Given the description of an element on the screen output the (x, y) to click on. 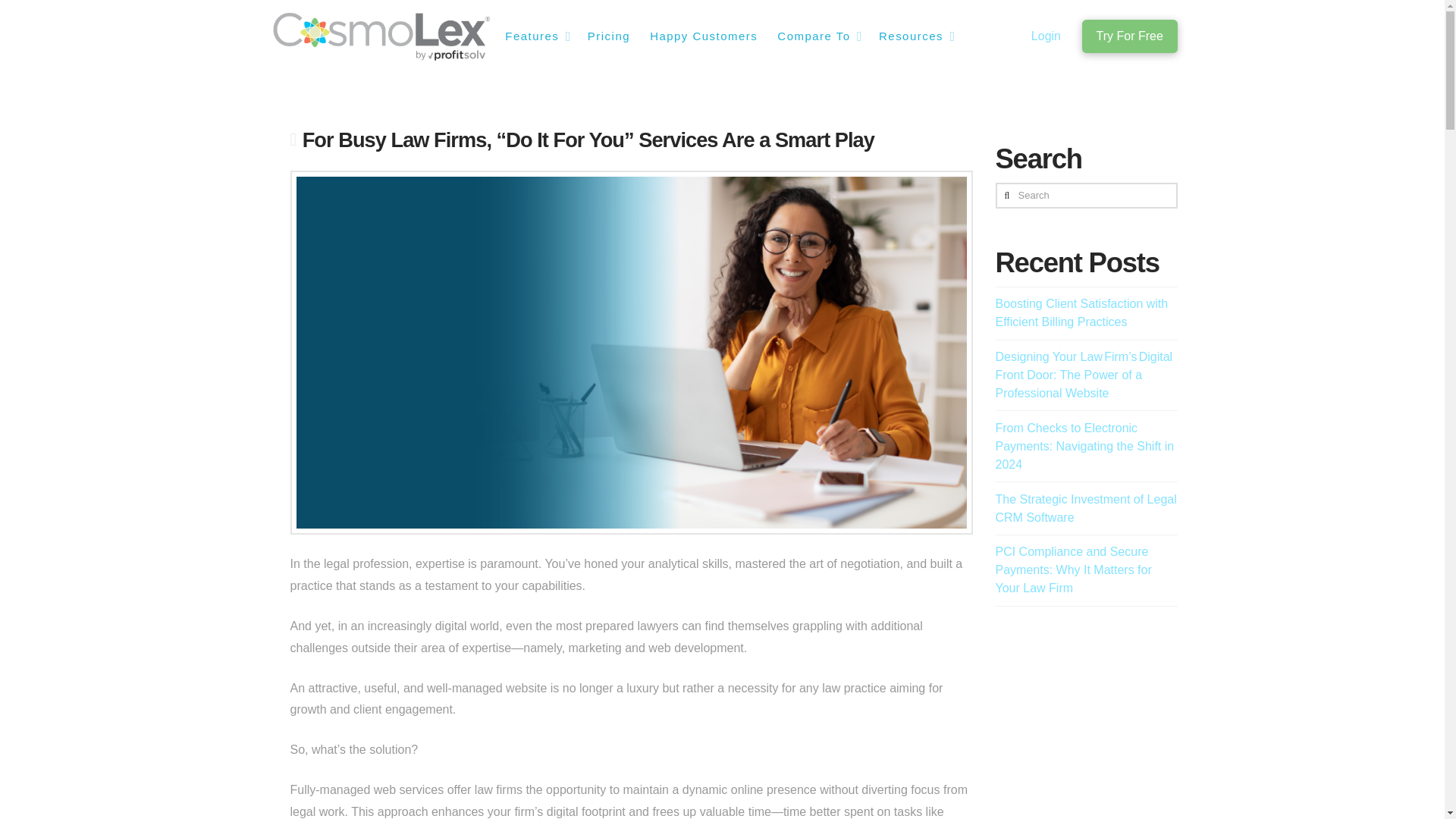
Features (535, 36)
Happy Customers (703, 36)
Try For Free (1128, 36)
Resources (913, 36)
Compare To (818, 36)
Login (1045, 35)
